Given the description of an element on the screen output the (x, y) to click on. 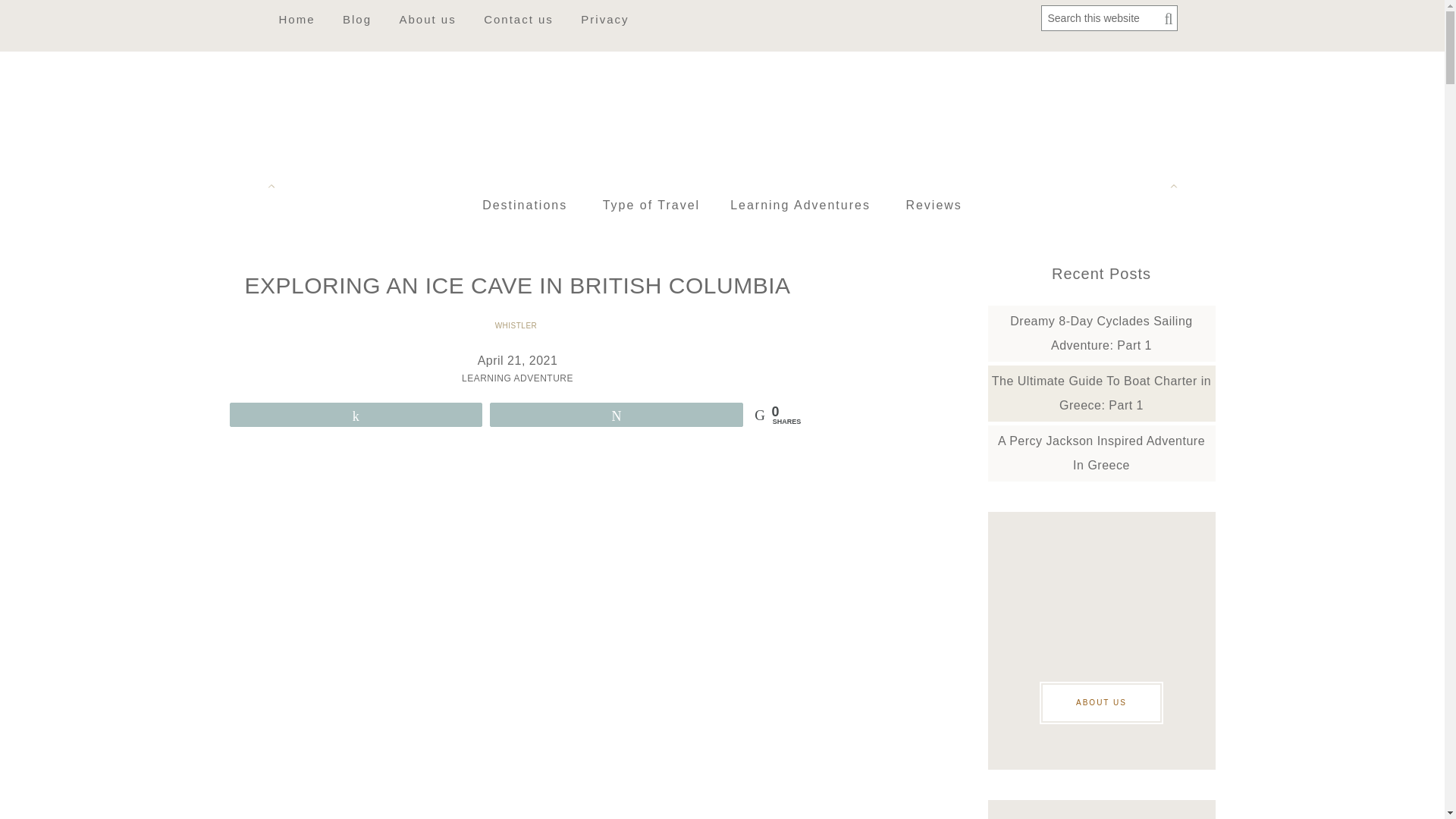
Privacy (604, 18)
Type of Travel (652, 205)
Blog (356, 18)
INTELLIGENT JOURNEYS (721, 117)
Learning Adventures (799, 205)
Home (296, 18)
Search (1165, 19)
Search (1165, 19)
About us (427, 18)
Destinations (524, 205)
